Given the description of an element on the screen output the (x, y) to click on. 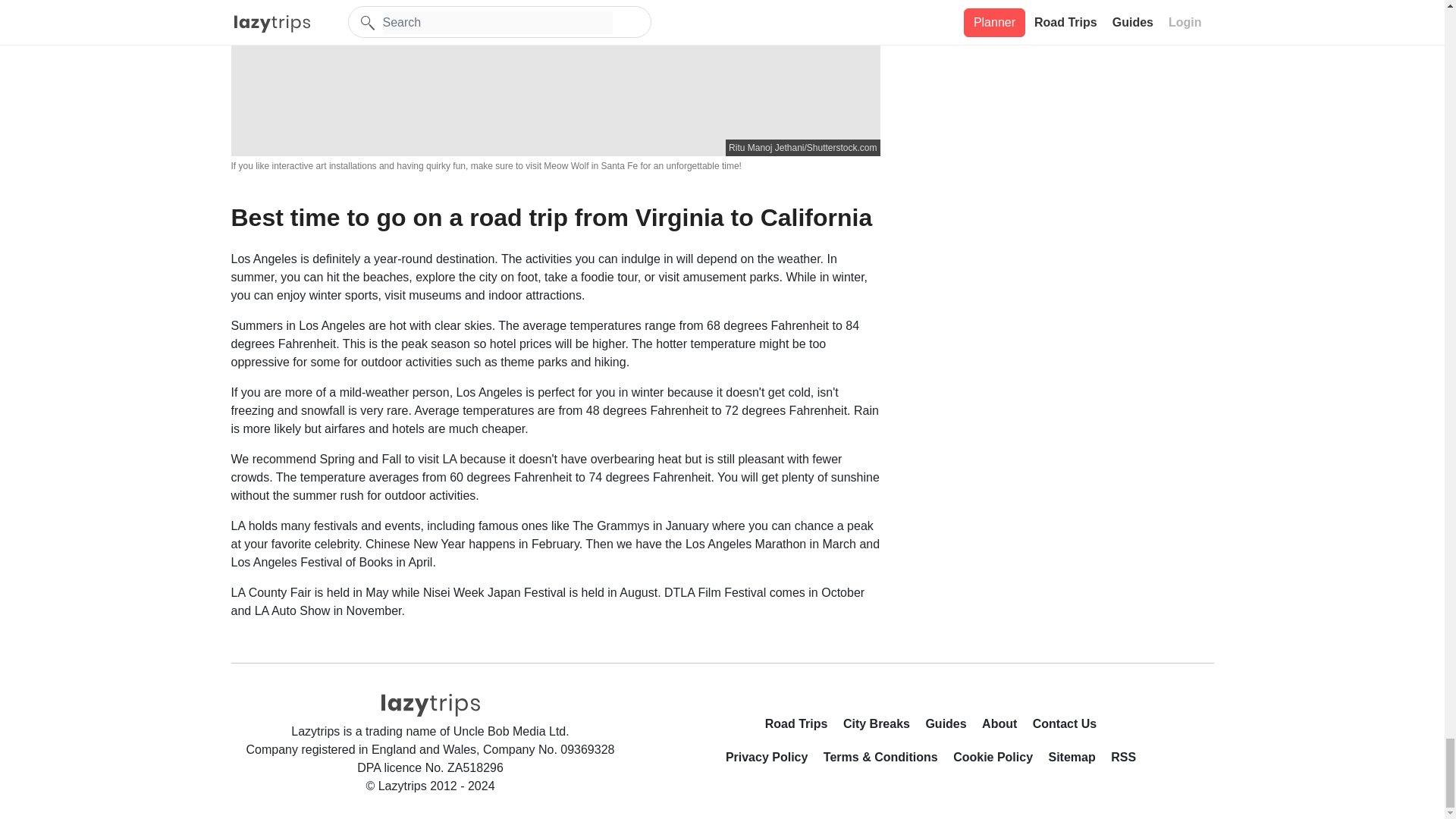
City Breaks (882, 726)
About (1005, 726)
Privacy Policy (773, 760)
Road Trips (802, 726)
Guides (951, 726)
Contact Us (1064, 726)
